Given the description of an element on the screen output the (x, y) to click on. 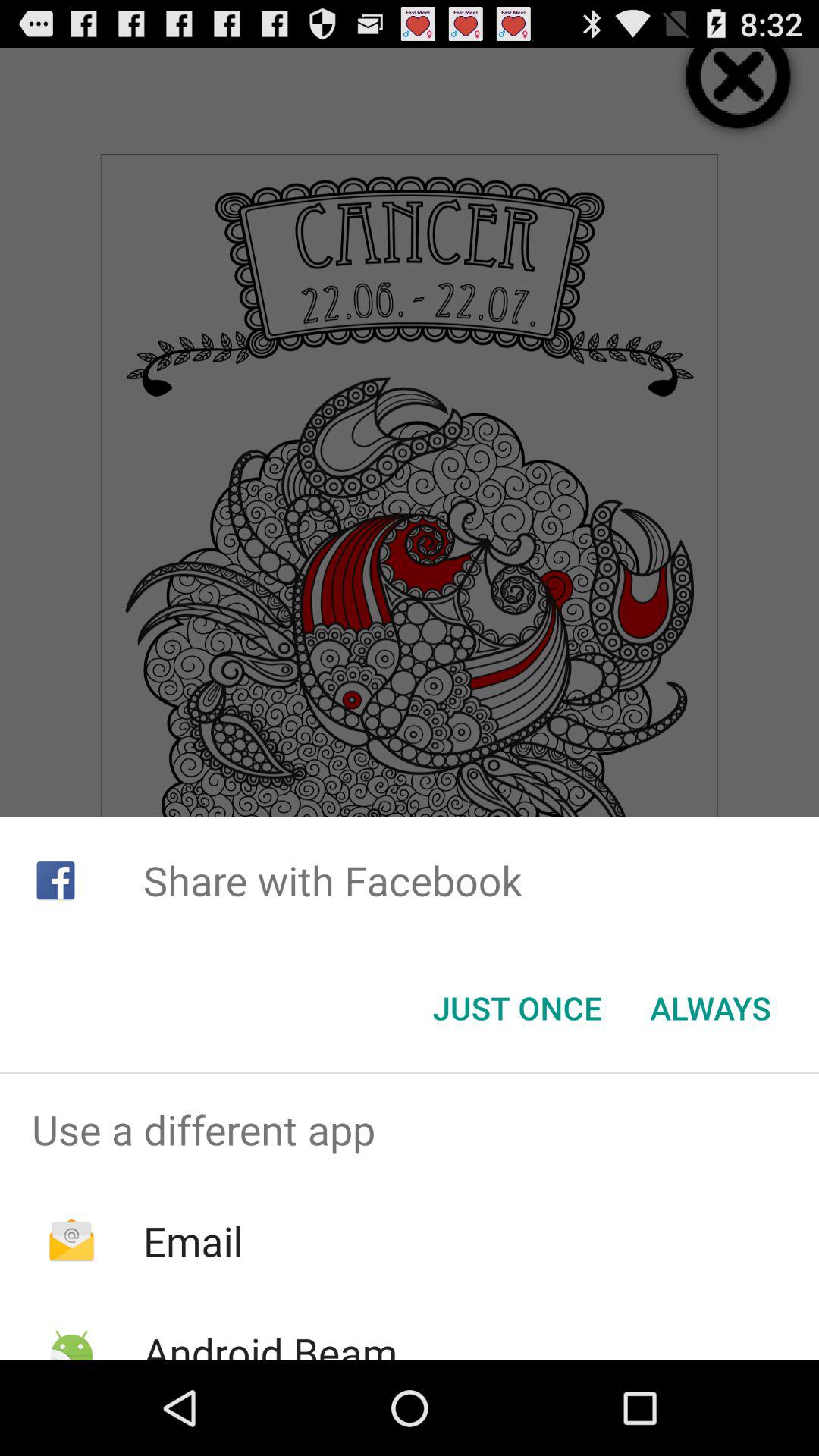
turn off the item above the email icon (409, 1129)
